Given the description of an element on the screen output the (x, y) to click on. 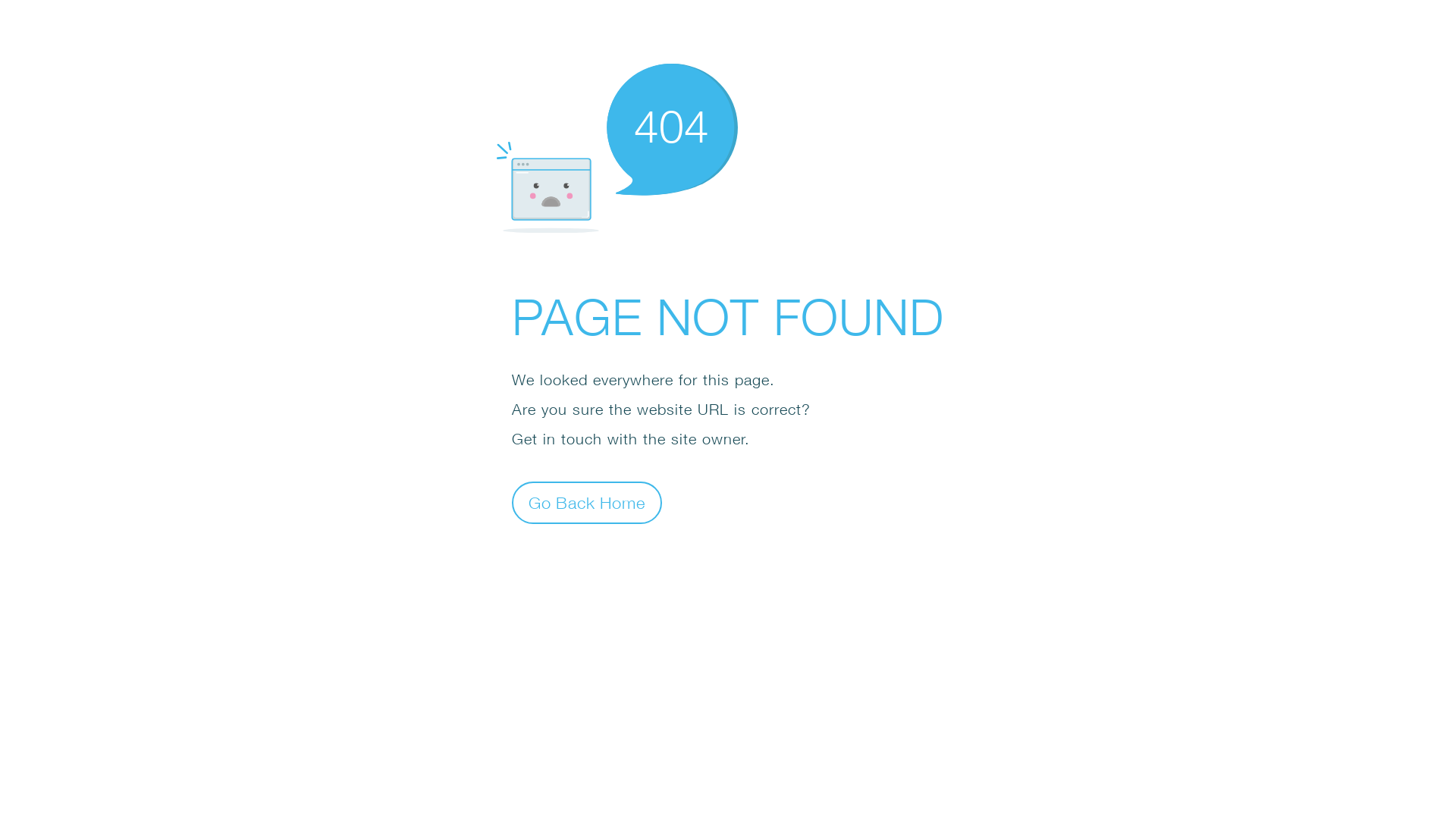
Go Back Home Element type: text (586, 502)
